Given the description of an element on the screen output the (x, y) to click on. 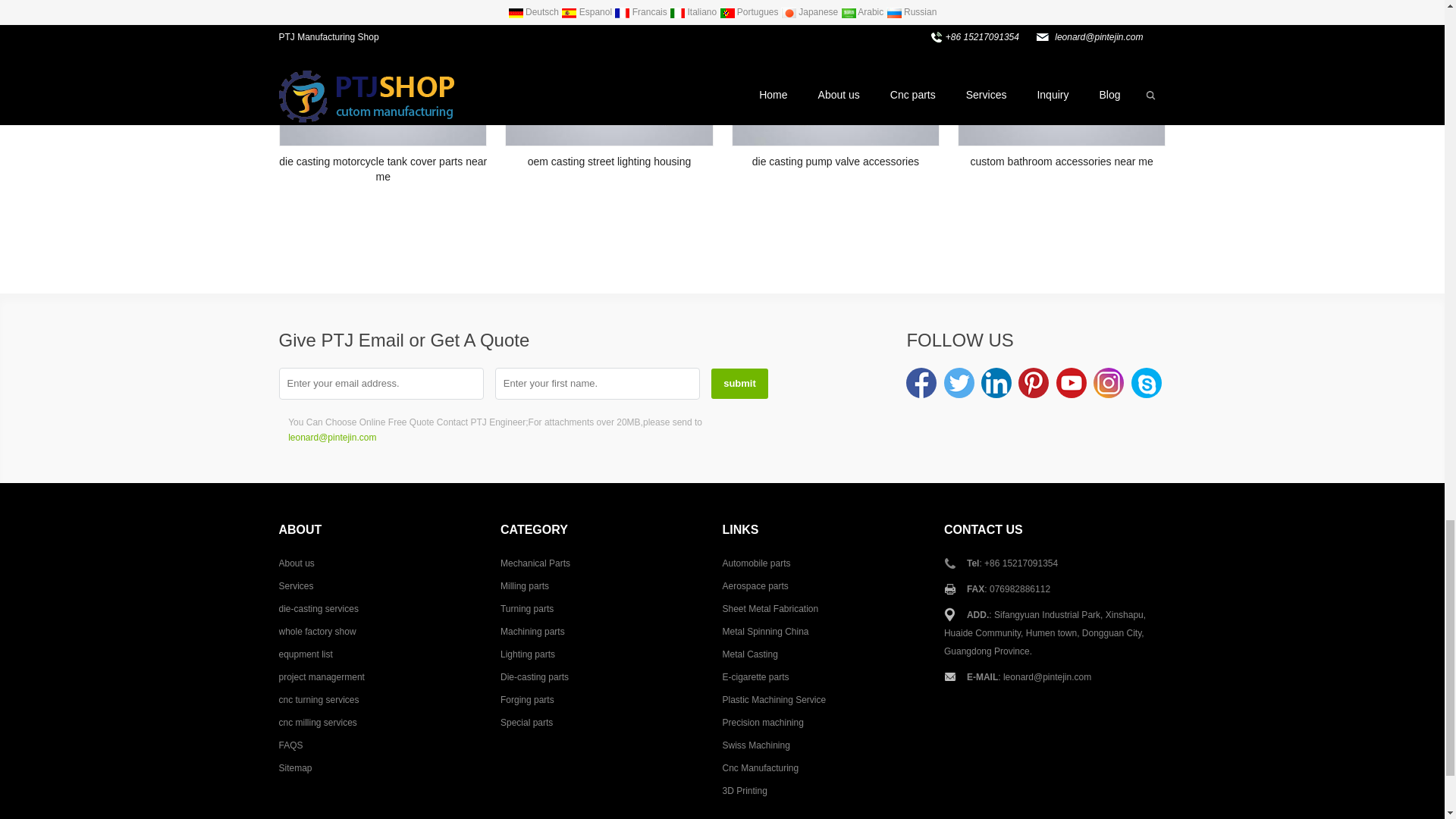
die casting motorcycle tank cover parts near me (383, 72)
die casting motorcycle tank cover parts near me (382, 92)
submit (739, 383)
